Given the description of an element on the screen output the (x, y) to click on. 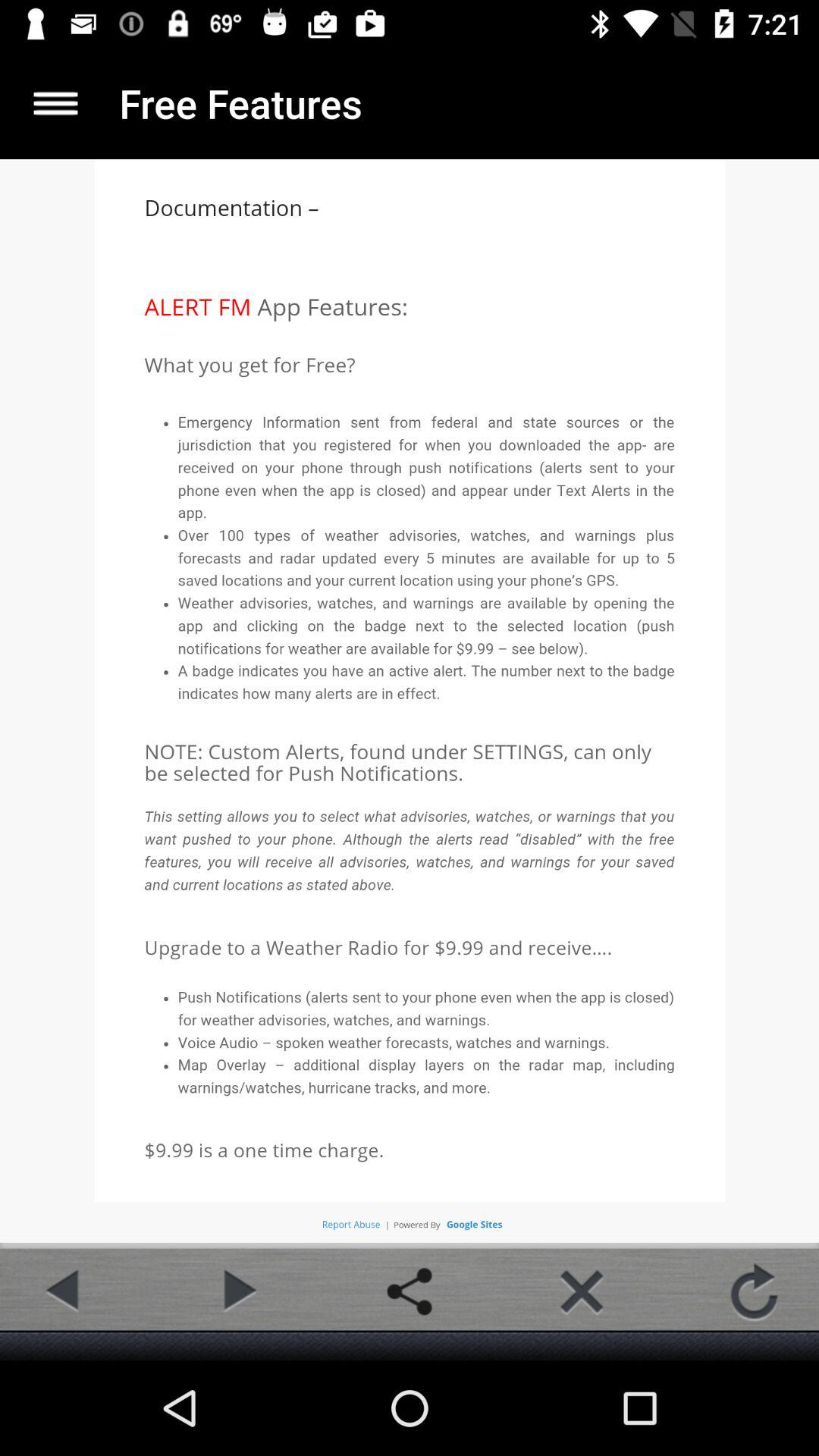
go back (64, 1291)
